Given the description of an element on the screen output the (x, y) to click on. 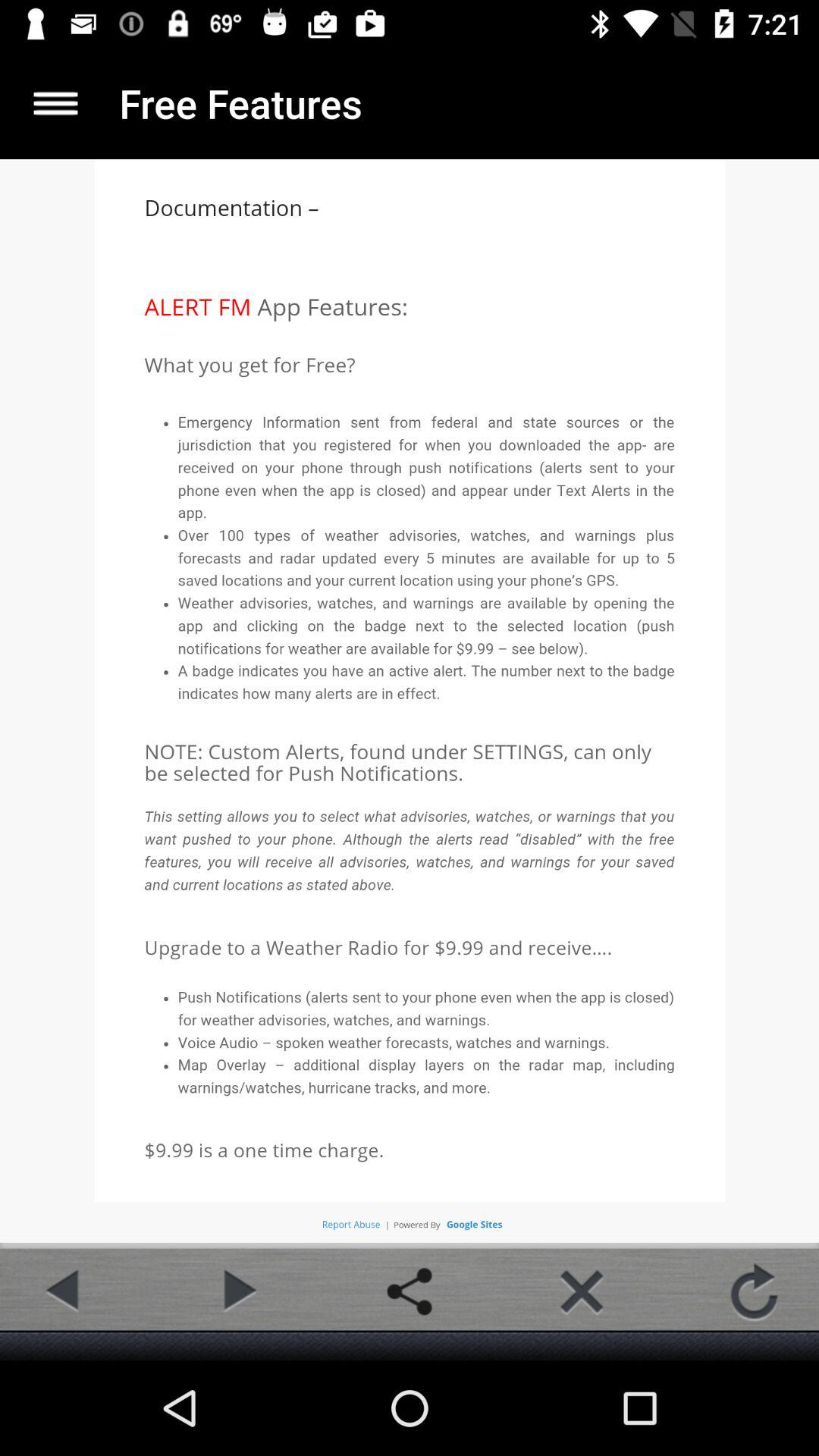
go back (64, 1291)
